Given the description of an element on the screen output the (x, y) to click on. 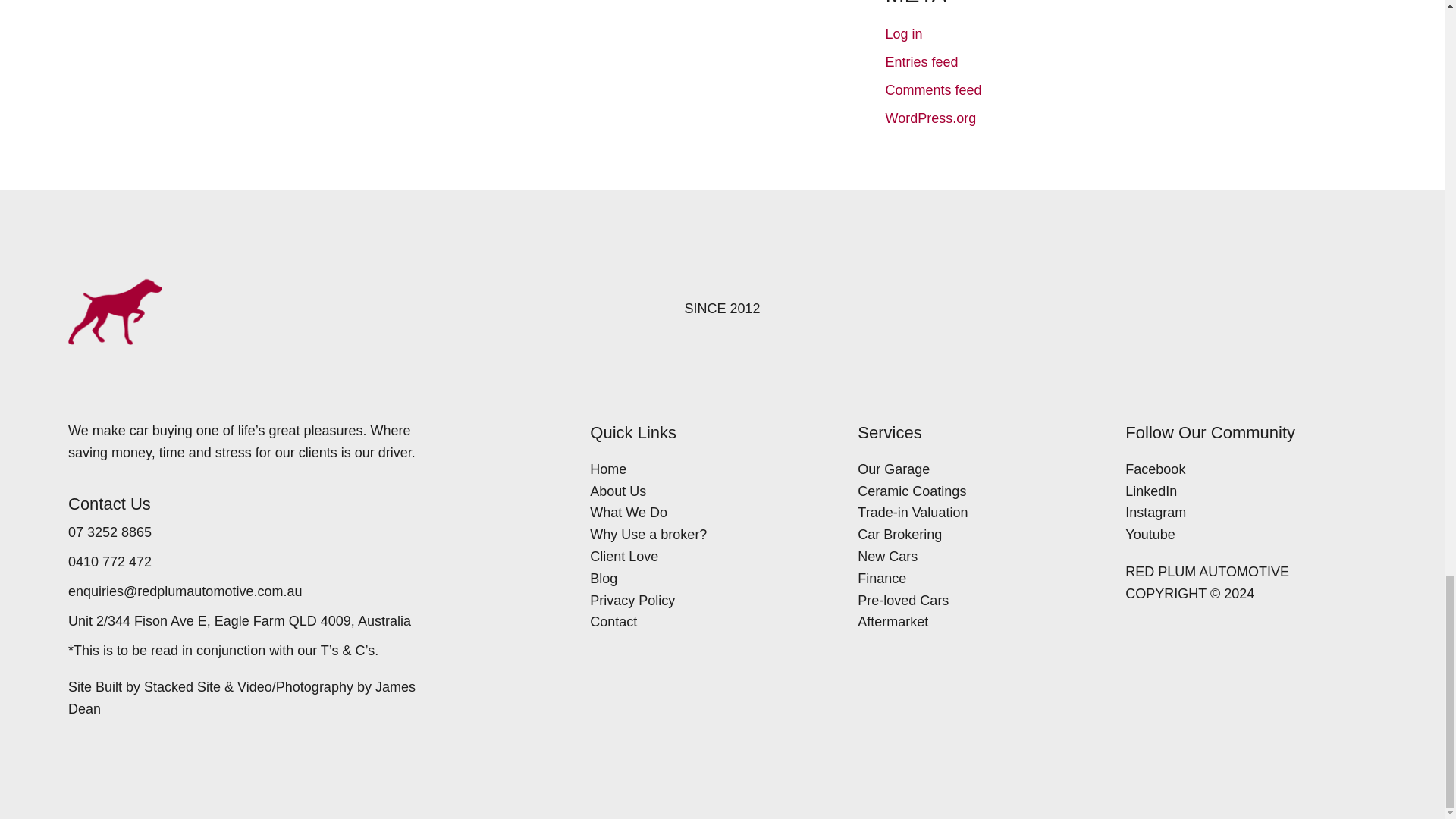
favicon (114, 312)
